Given the description of an element on the screen output the (x, y) to click on. 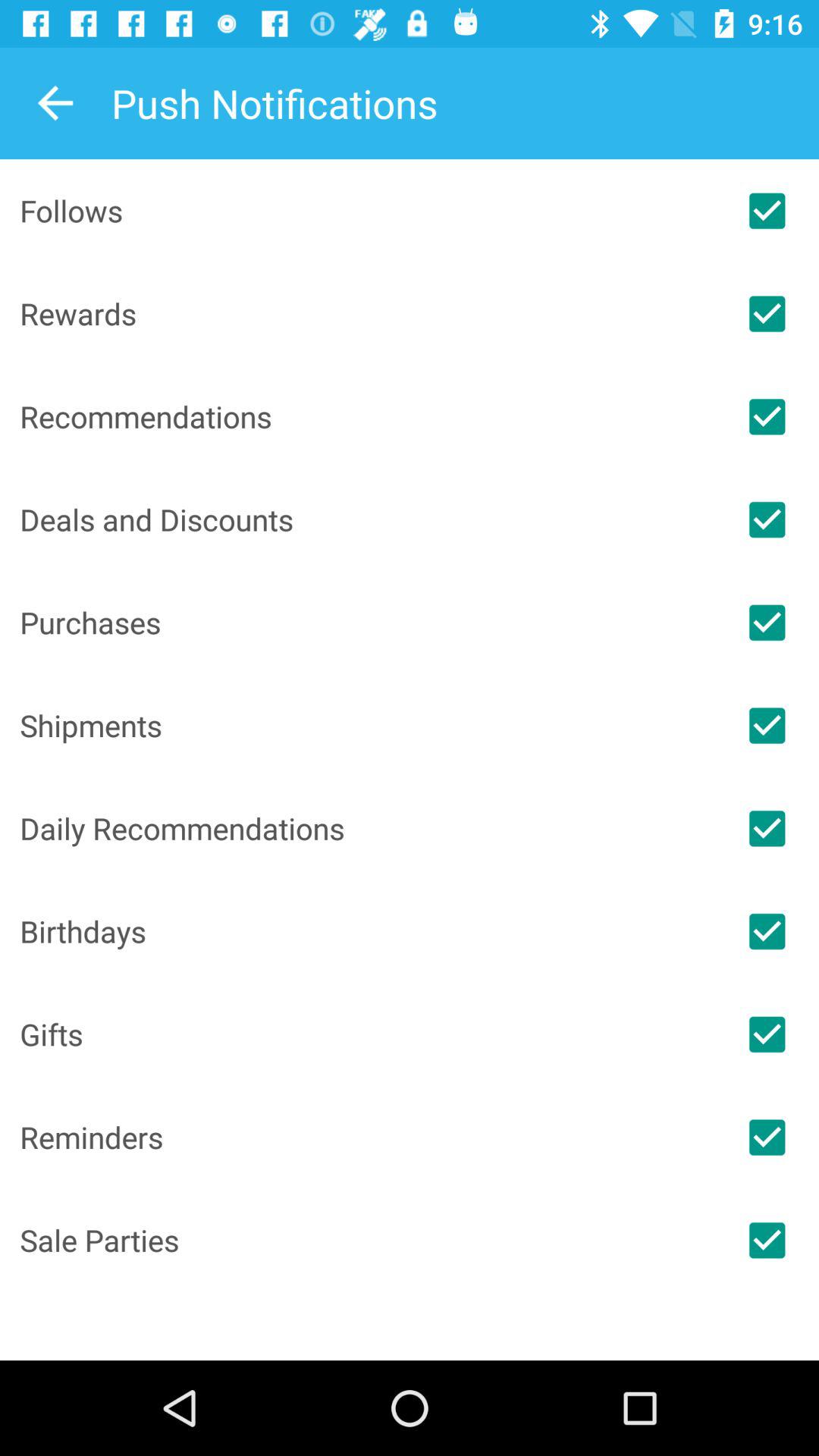
select notification to be on (767, 1034)
